Given the description of an element on the screen output the (x, y) to click on. 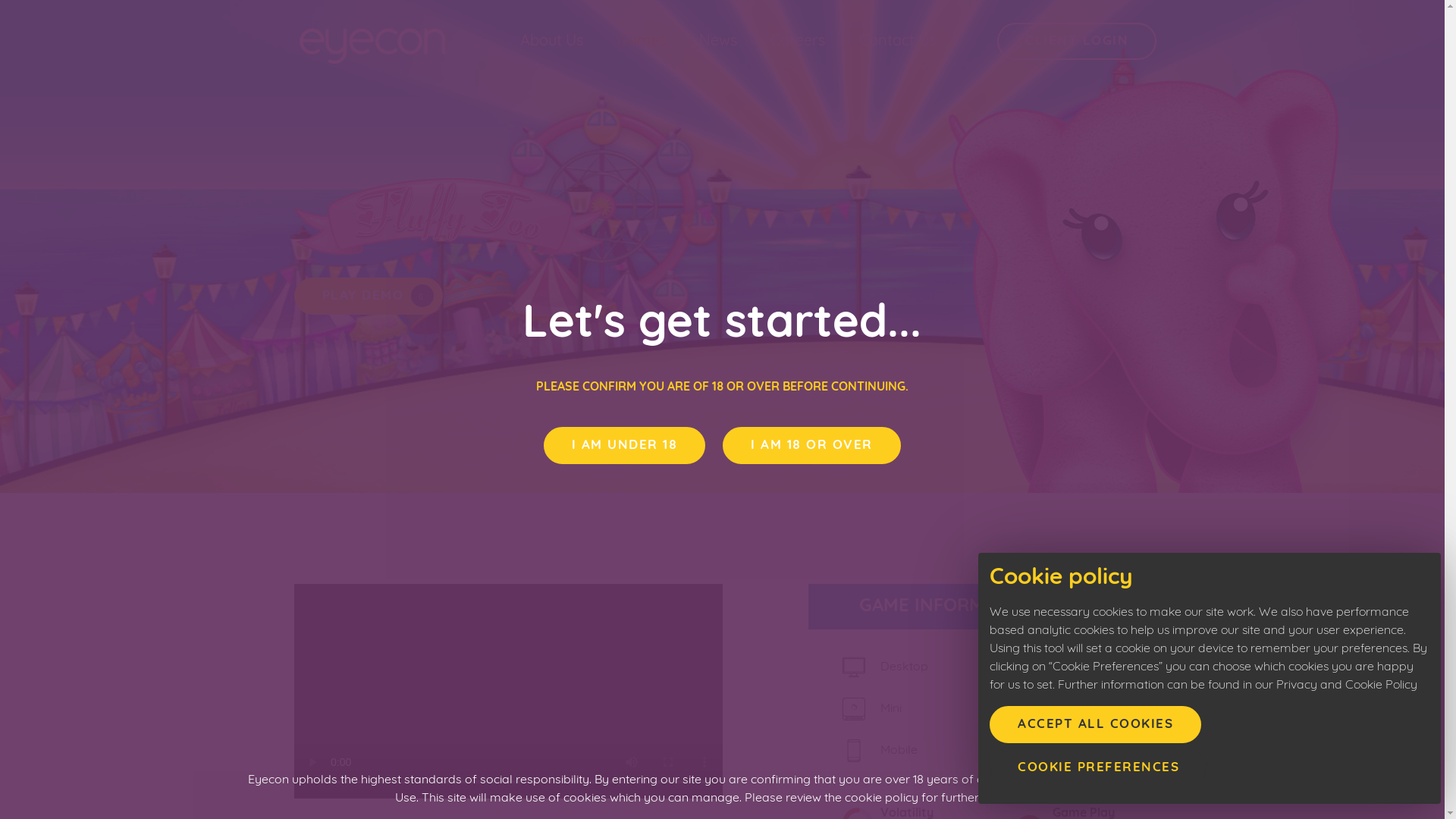
News Element type: text (718, 41)
I AM 18 OR OVER Element type: text (811, 445)
CLIENT LOGIN Element type: text (1076, 40)
About Us Element type: text (551, 41)
Contact Us Element type: text (897, 41)
ACCEPT ALL COOKIES Element type: text (1095, 724)
COOKIE PREFERENCES Element type: text (1098, 767)
I AM UNDER 18 Element type: text (624, 445)
PLAY DEMO Element type: text (368, 295)
Careers Element type: text (797, 41)
Games Element type: text (641, 41)
